Given the description of an element on the screen output the (x, y) to click on. 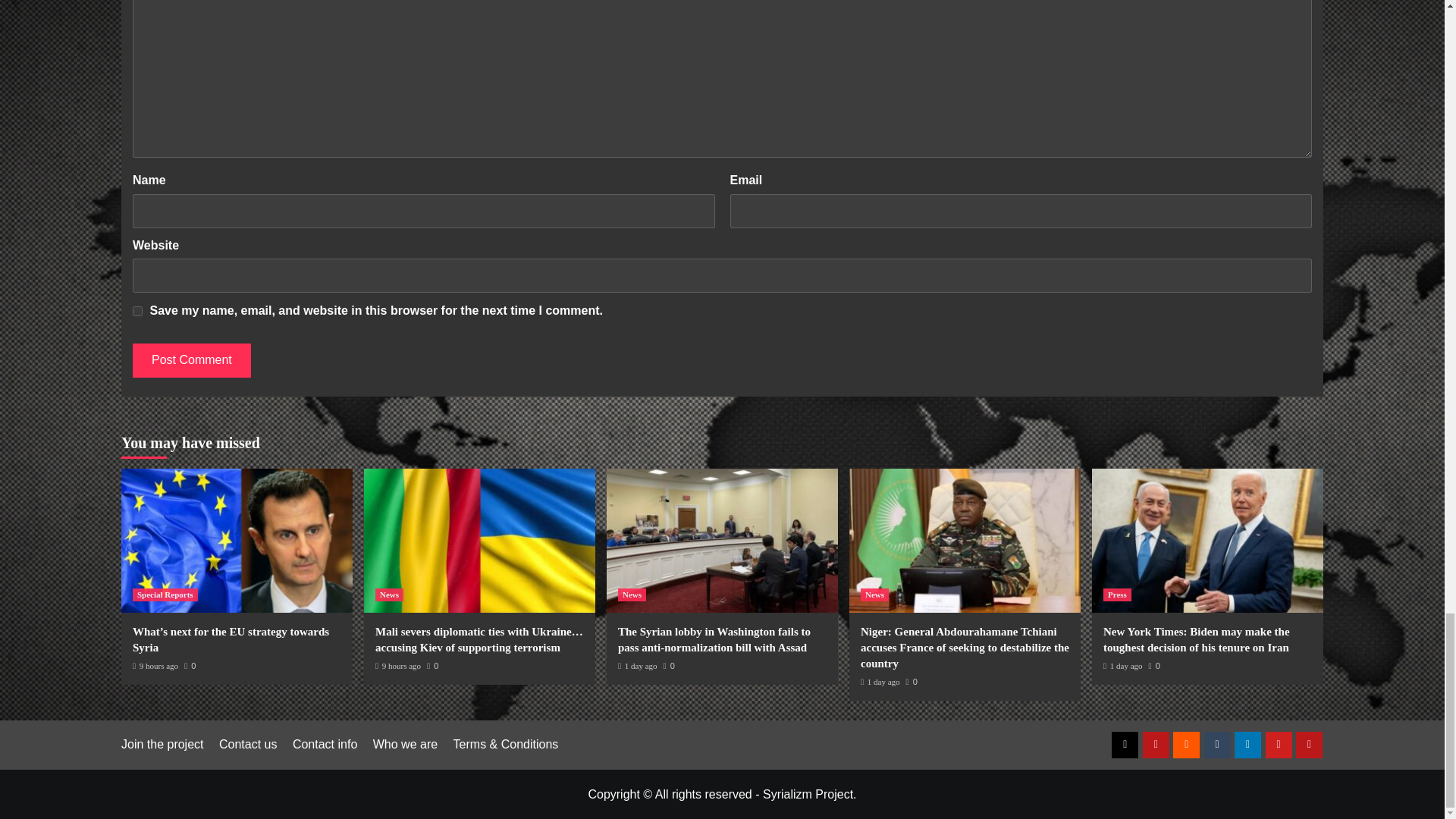
Post Comment (191, 360)
yes (137, 311)
